Given the description of an element on the screen output the (x, y) to click on. 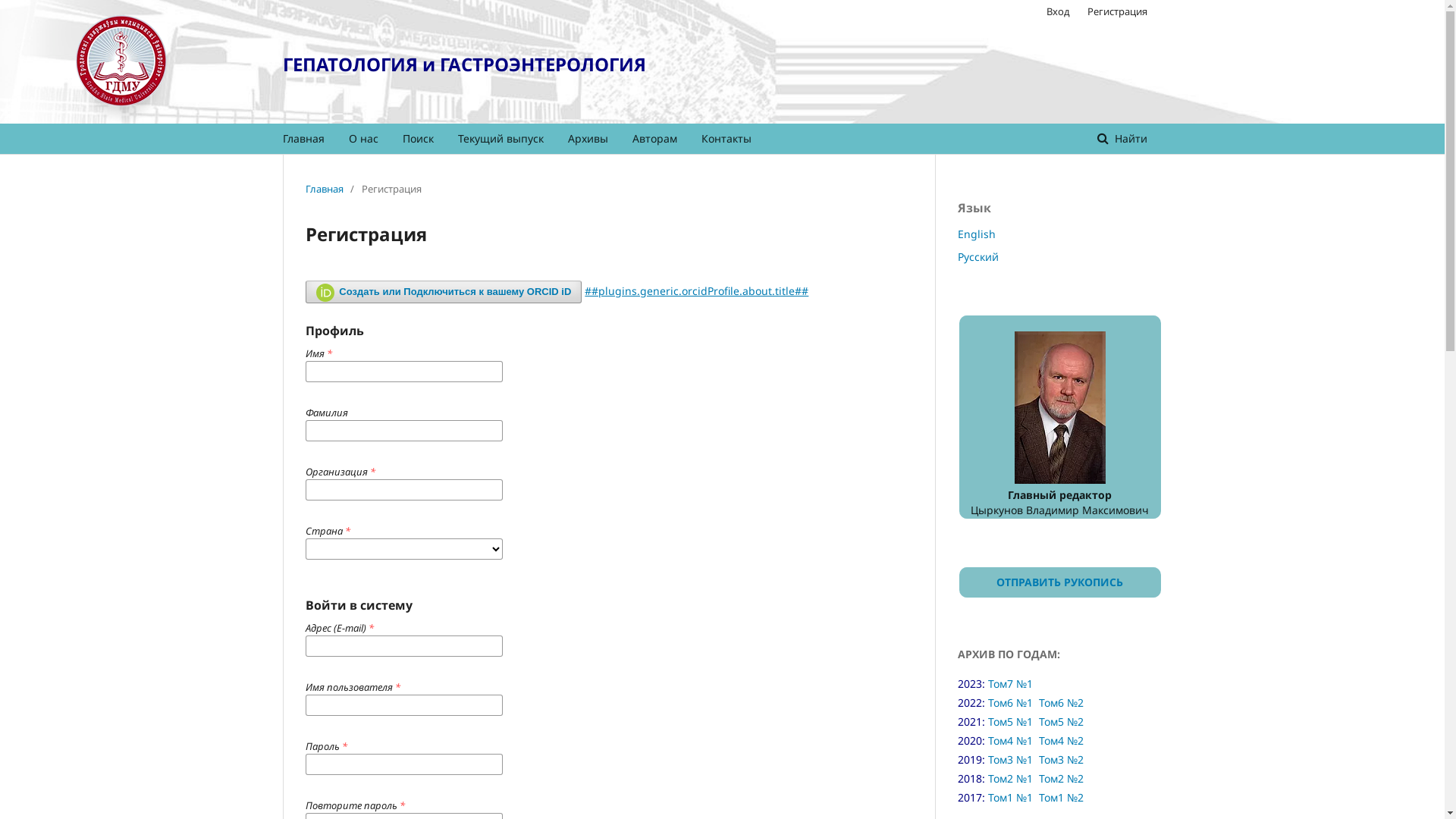
English Element type: text (975, 233)
##plugins.generic.orcidProfile.about.title## Element type: text (696, 290)
